Given the description of an element on the screen output the (x, y) to click on. 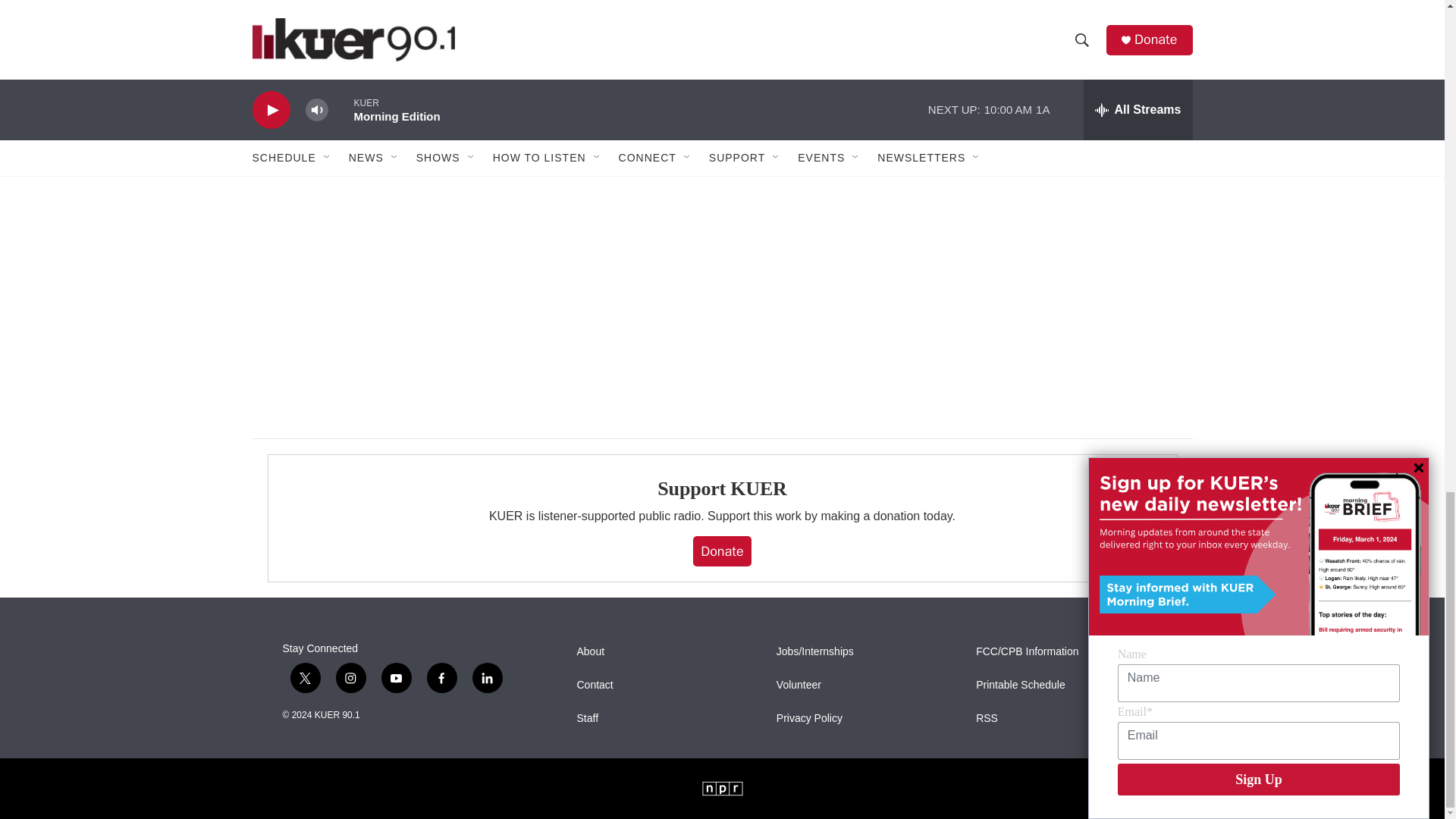
3rd party ad content (1062, 267)
3rd party ad content (1062, 71)
